Given the description of an element on the screen output the (x, y) to click on. 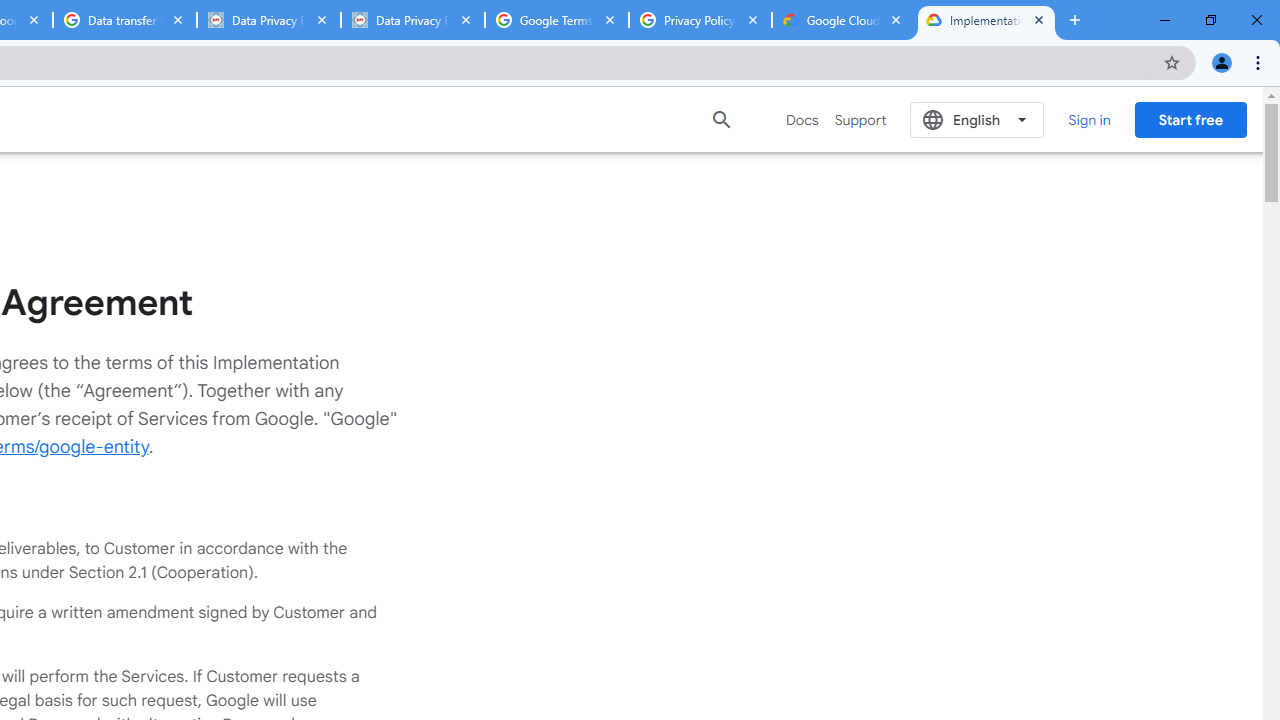
Data Privacy Framework (412, 20)
Data Privacy Framework (268, 20)
Implementation Services Agreement | Google Cloud (986, 20)
